Given the description of an element on the screen output the (x, y) to click on. 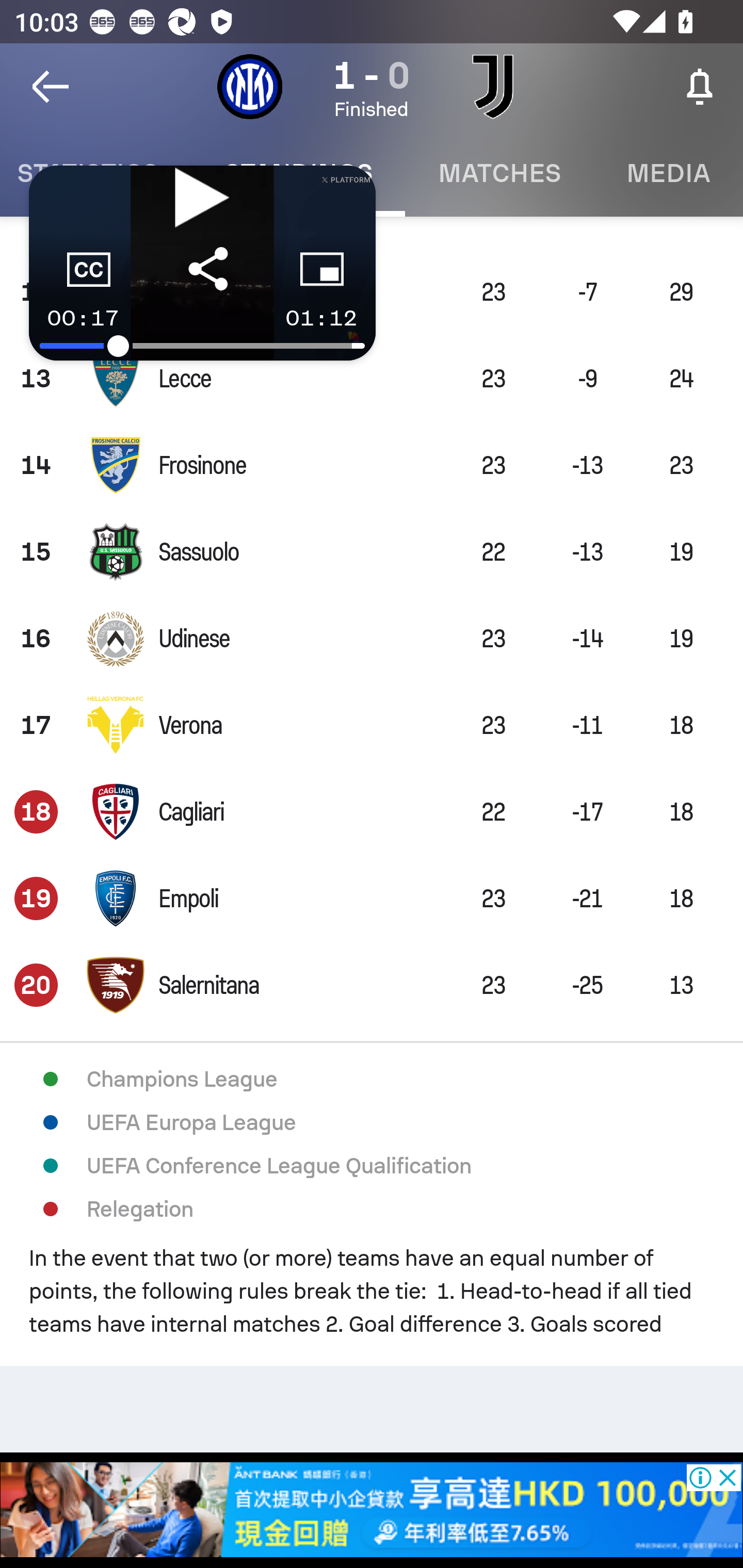
Navigate up (50, 86)
Matches MATCHES (498, 173)
Media MEDIA (668, 173)
13 Lecce 23 -9 24 (371, 378)
13 (36, 378)
14 Frosinone 23 -13 23 (371, 464)
14 (36, 464)
15 Sassuolo 22 -13 19 (371, 551)
15 (36, 551)
16 Udinese 23 -14 19 (371, 638)
16 (36, 638)
17 Verona 23 -11 18 (371, 725)
17 (36, 725)
18 Cagliari 22 -17 18 (371, 811)
18 (36, 811)
19 Empoli 23 -21 18 (371, 898)
19 (36, 898)
20 Salernitana 23 -25 13 (371, 985)
20 (36, 985)
Champions League (371, 1078)
UEFA Europa League (371, 1122)
UEFA Conference League Qualification (371, 1165)
Relegation (371, 1208)
